Given the description of an element on the screen output the (x, y) to click on. 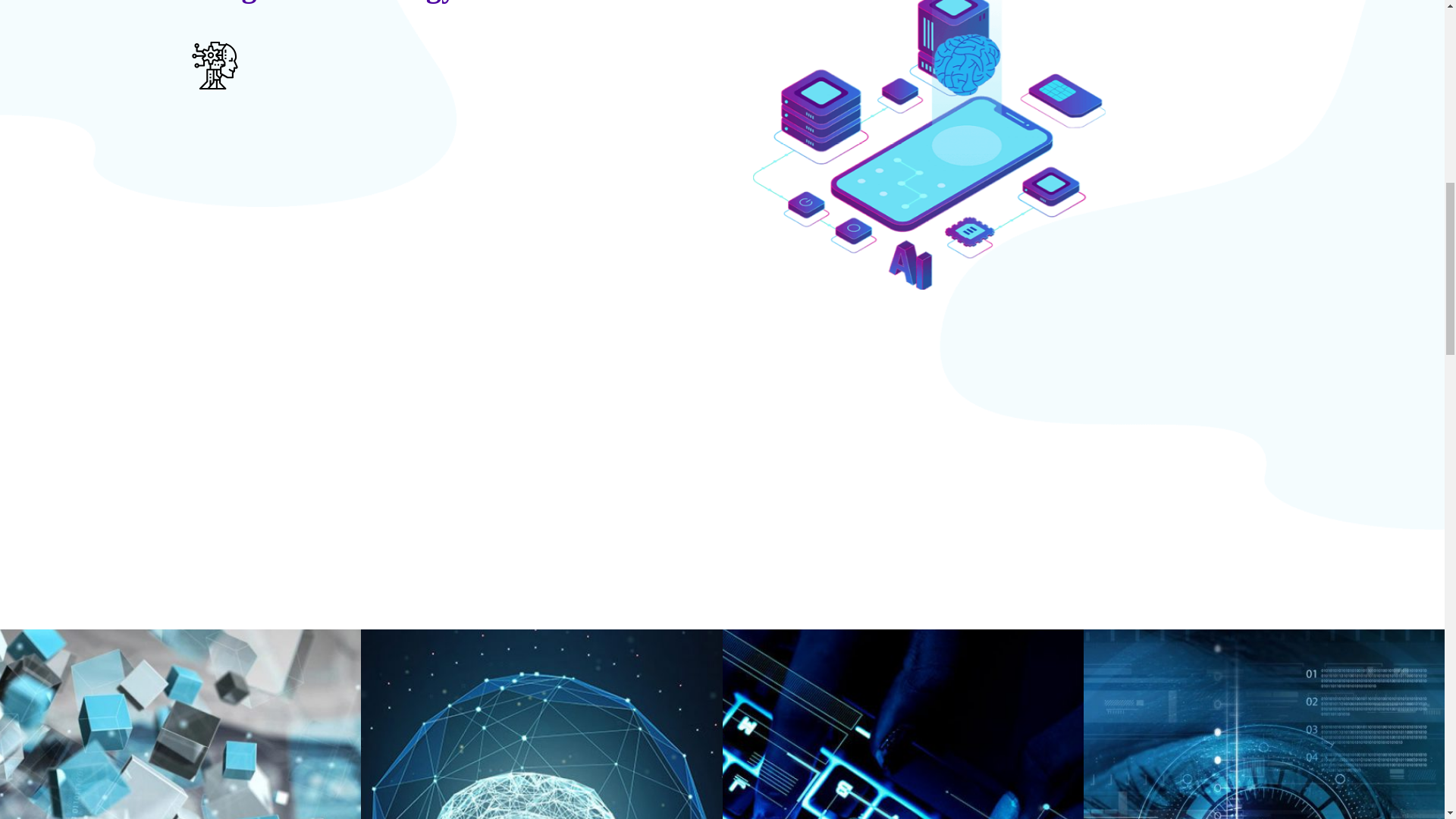
AdobeStock1 (530, 717)
img-aimobie-oj3vd06mvhytqzjmq4ypkl4ud3heq6b94t4bj1751k (928, 144)
human-robot (175, 717)
image-from-rawpixe (891, 717)
